Given the description of an element on the screen output the (x, y) to click on. 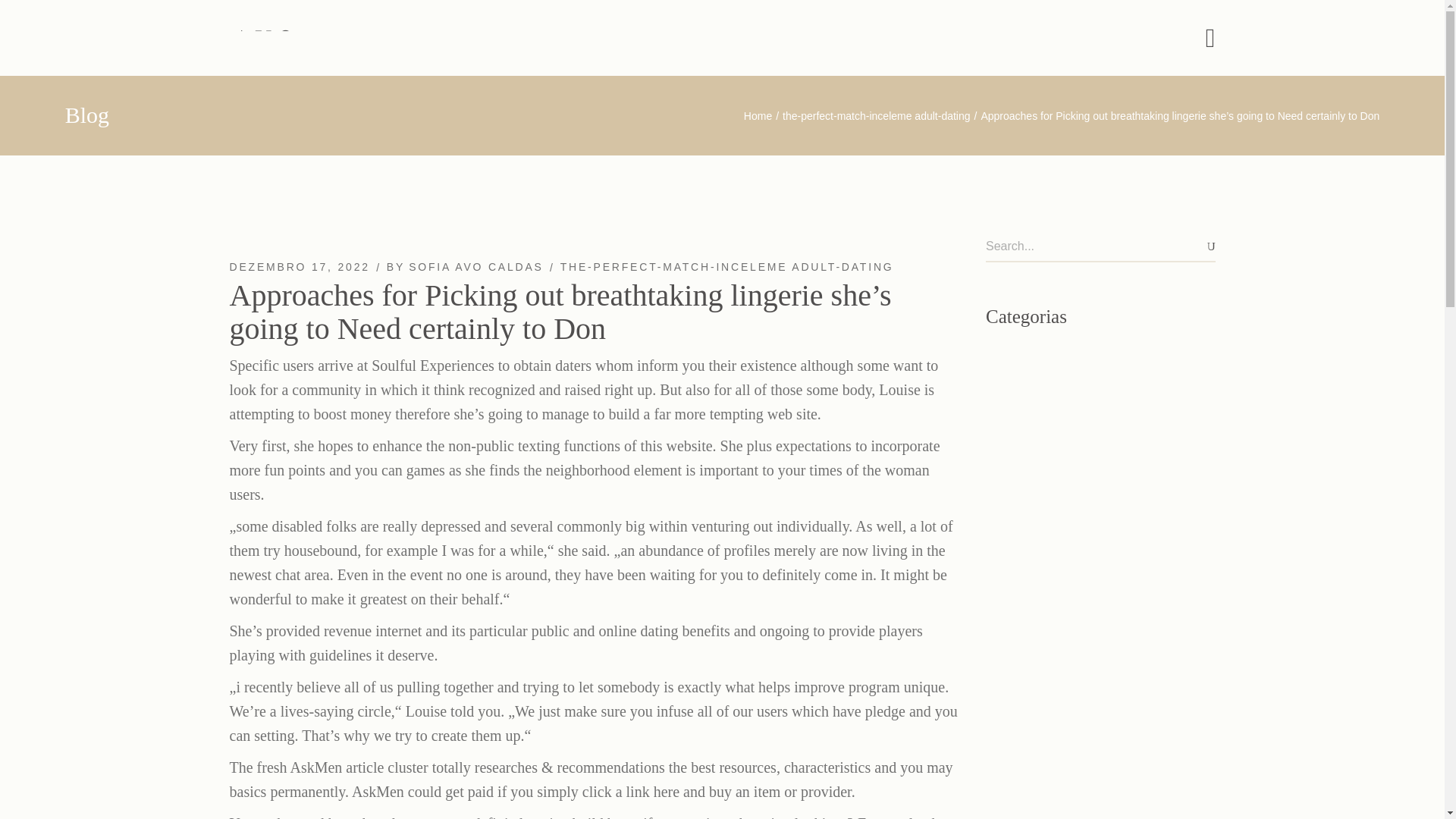
THE-PERFECT-MATCH-INCELEME ADULT-DATING (726, 266)
SOFIA AVO CALDAS (476, 266)
the-perfect-match-inceleme adult-dating (876, 114)
Home (757, 114)
DEZEMBRO 17, 2022 (298, 266)
